Given the description of an element on the screen output the (x, y) to click on. 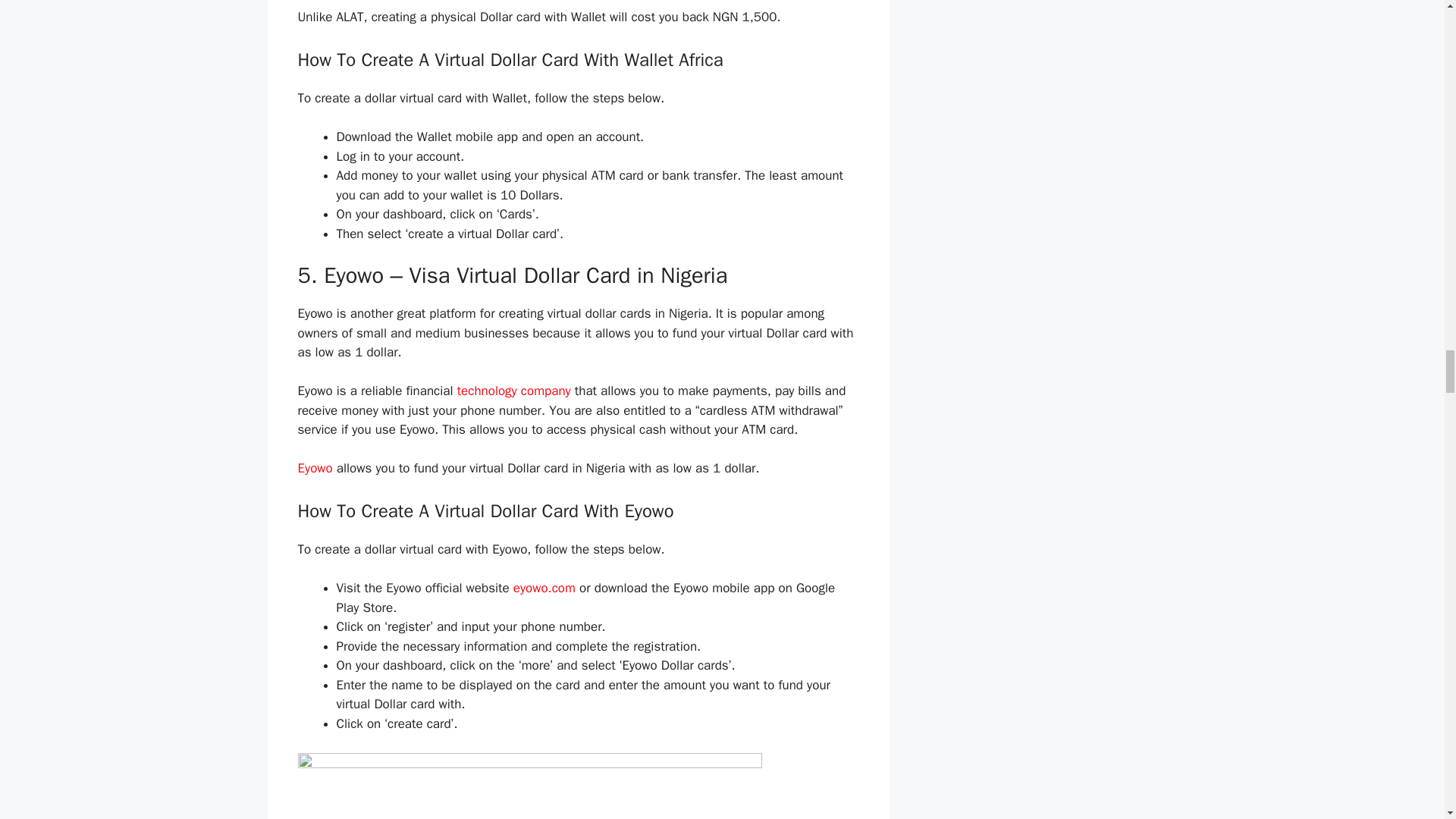
technology company (513, 390)
eyowo.com (544, 587)
Eyowo (314, 467)
